Given the description of an element on the screen output the (x, y) to click on. 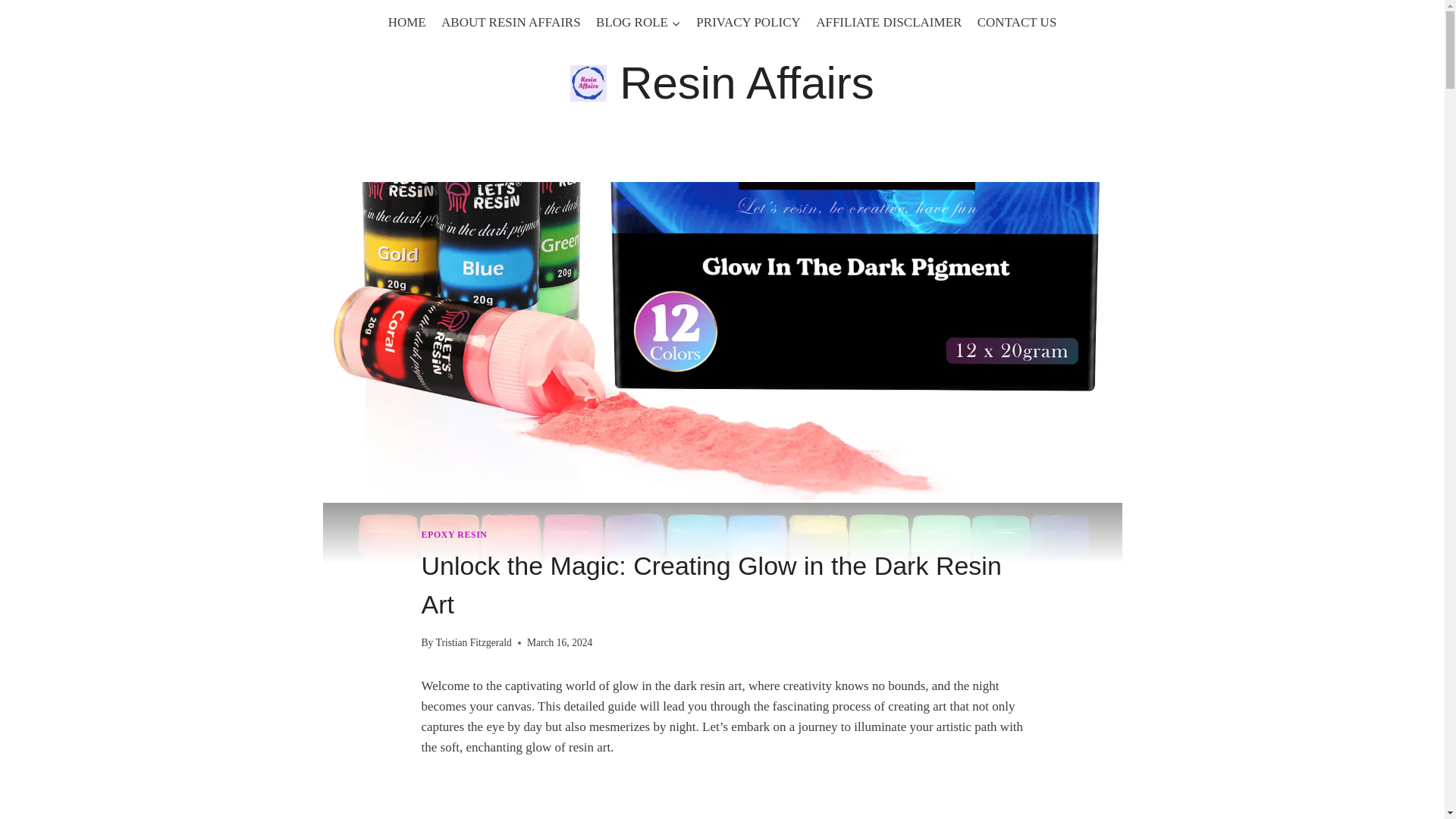
BLOG ROLE (638, 22)
PRIVACY POLICY (748, 22)
EPOXY RESIN (454, 534)
CONTACT US (1016, 22)
Tristian Fitzgerald (473, 642)
Resin Affairs (722, 83)
AFFILIATE DISCLAIMER (888, 22)
HOME (406, 22)
ABOUT RESIN AFFAIRS (510, 22)
